Given the description of an element on the screen output the (x, y) to click on. 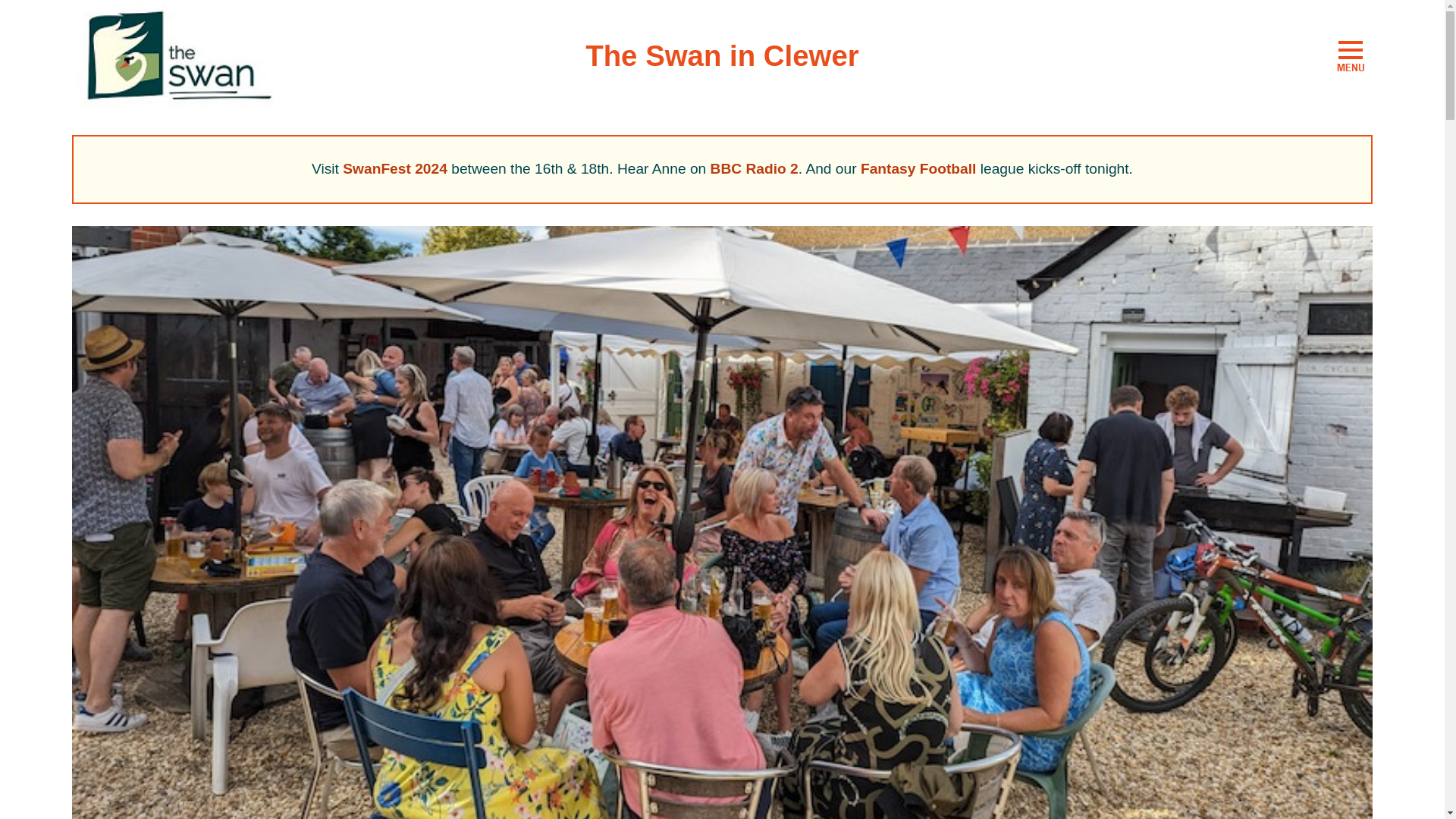
SwanFest 2024 (394, 168)
BBC Radio 2 (753, 168)
The Swan in Clewer, Windsor (1351, 55)
Fantasy Football (917, 168)
The Swan in Clewer, Windsor (176, 56)
